Given the description of an element on the screen output the (x, y) to click on. 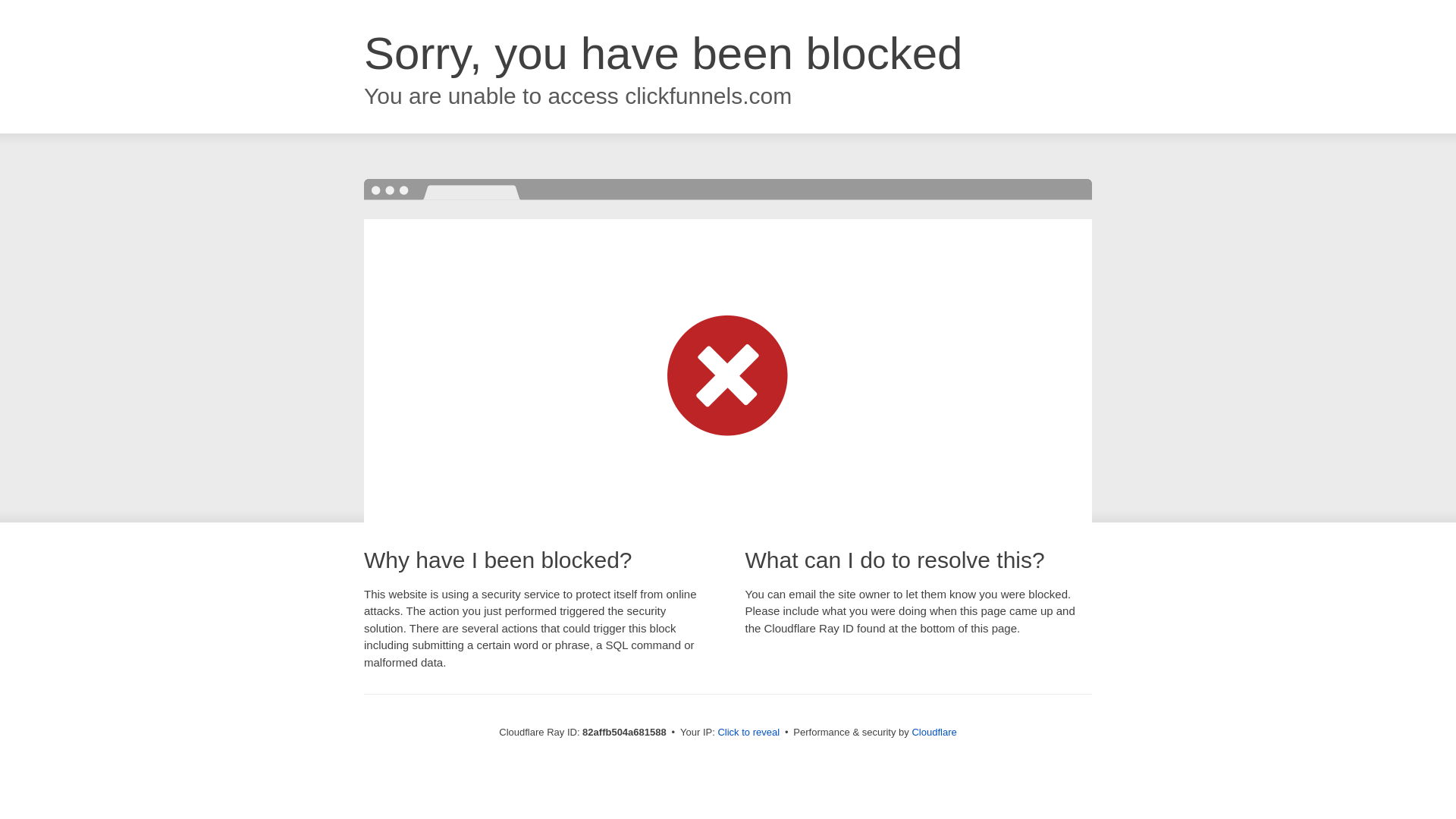
Cloudflare Element type: text (933, 731)
Click to reveal Element type: text (748, 732)
